Given the description of an element on the screen output the (x, y) to click on. 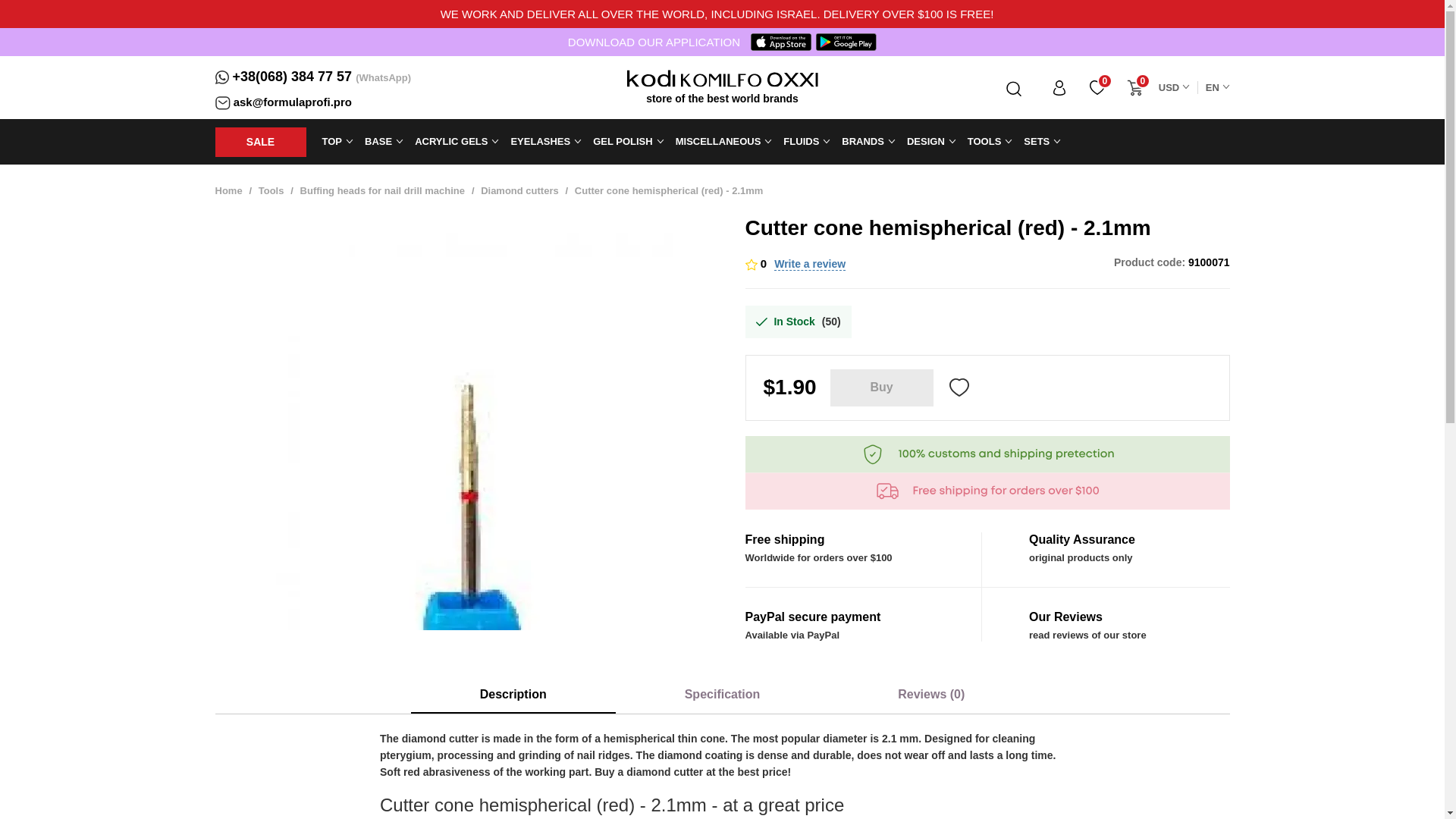
SALE (260, 142)
Official store Kodi, Oxxi, Staleks (791, 77)
TOP (332, 141)
Official store Kodi, Oxxi, Staleks (721, 77)
Official store Kodi, Oxxi, Staleks (650, 77)
